Given the description of an element on the screen output the (x, y) to click on. 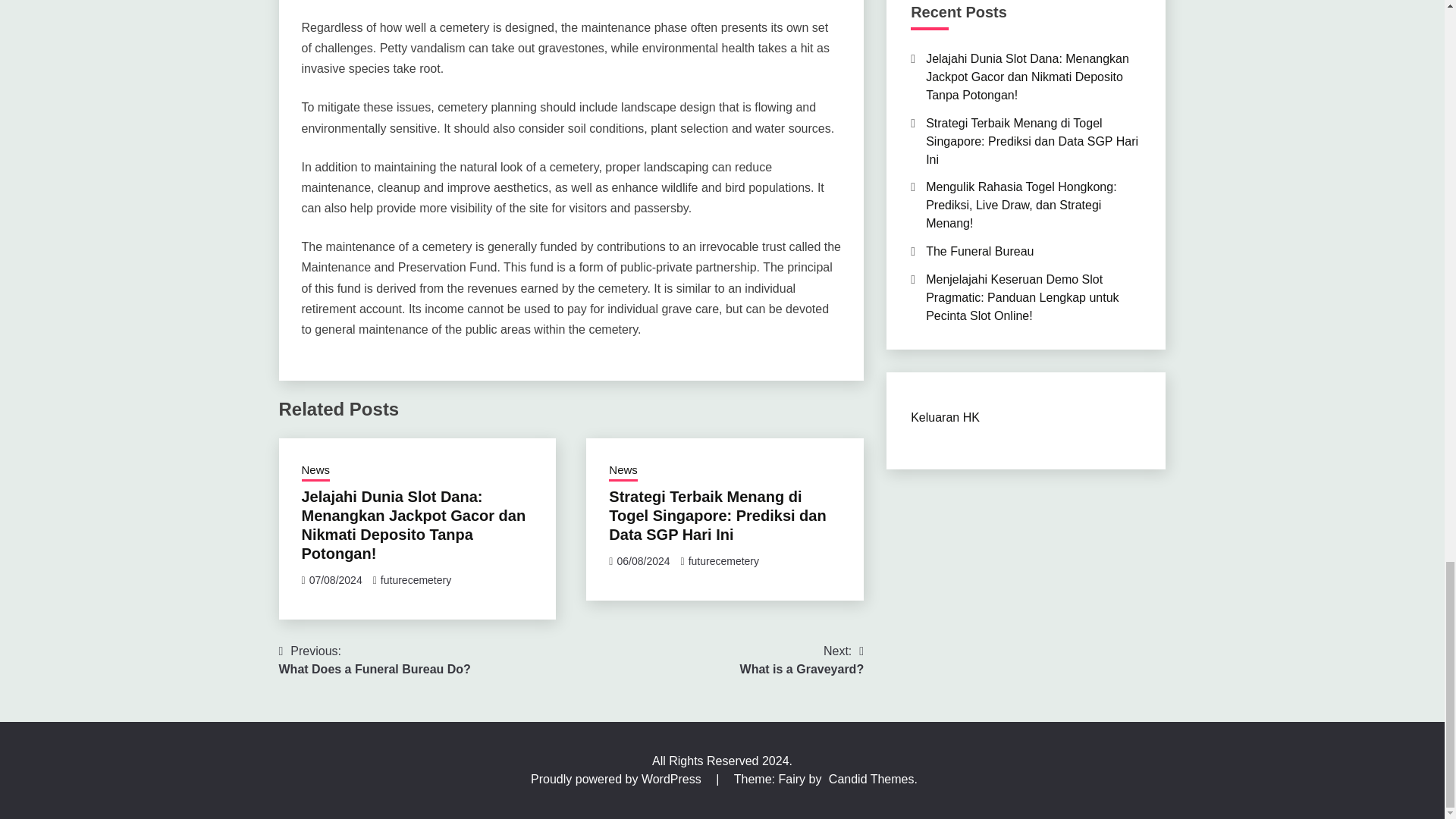
futurecemetery (723, 561)
News (315, 471)
News (622, 471)
futurecemetery (801, 659)
